Given the description of an element on the screen output the (x, y) to click on. 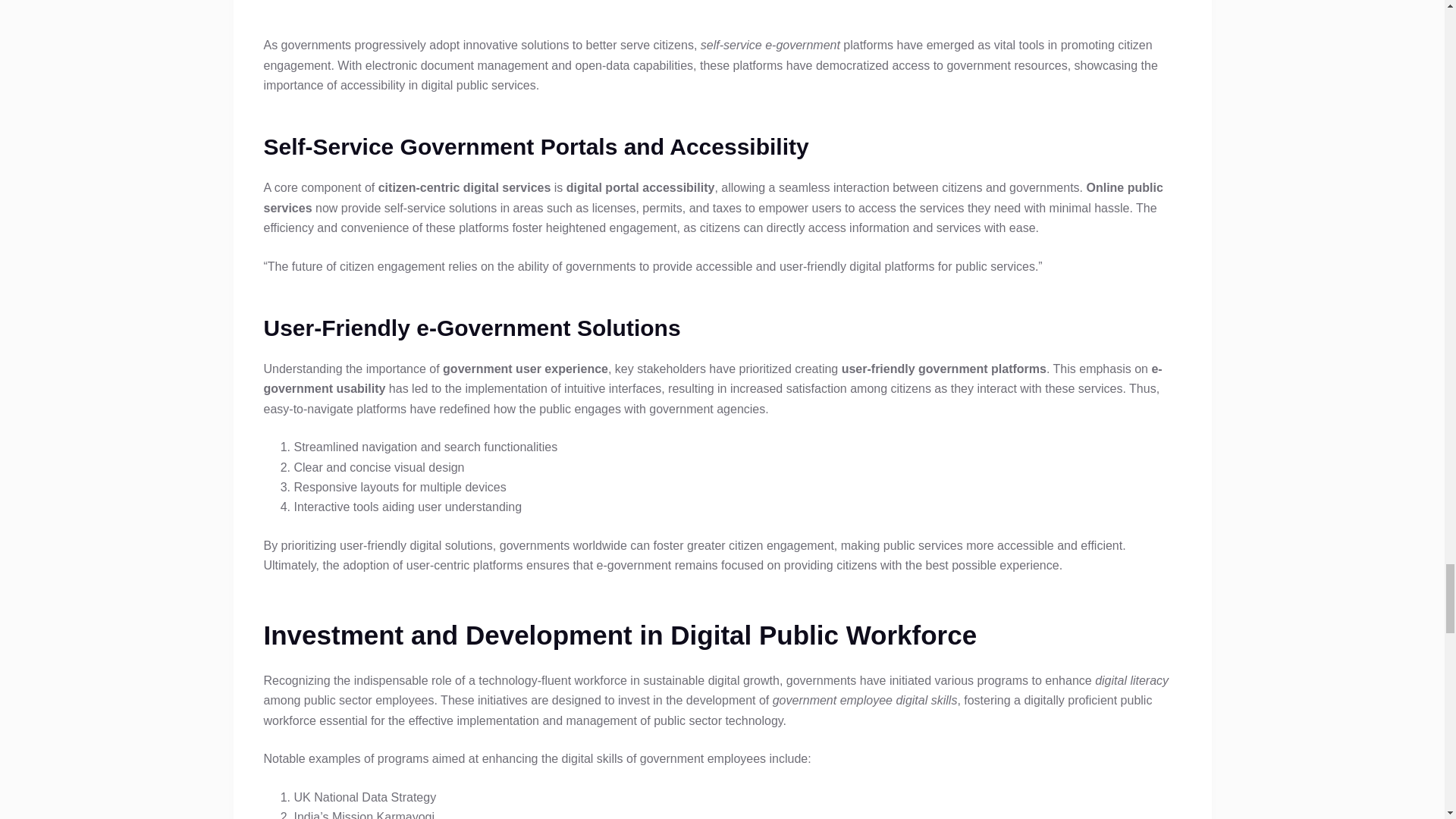
Self-service e-government (721, 8)
